Given the description of an element on the screen output the (x, y) to click on. 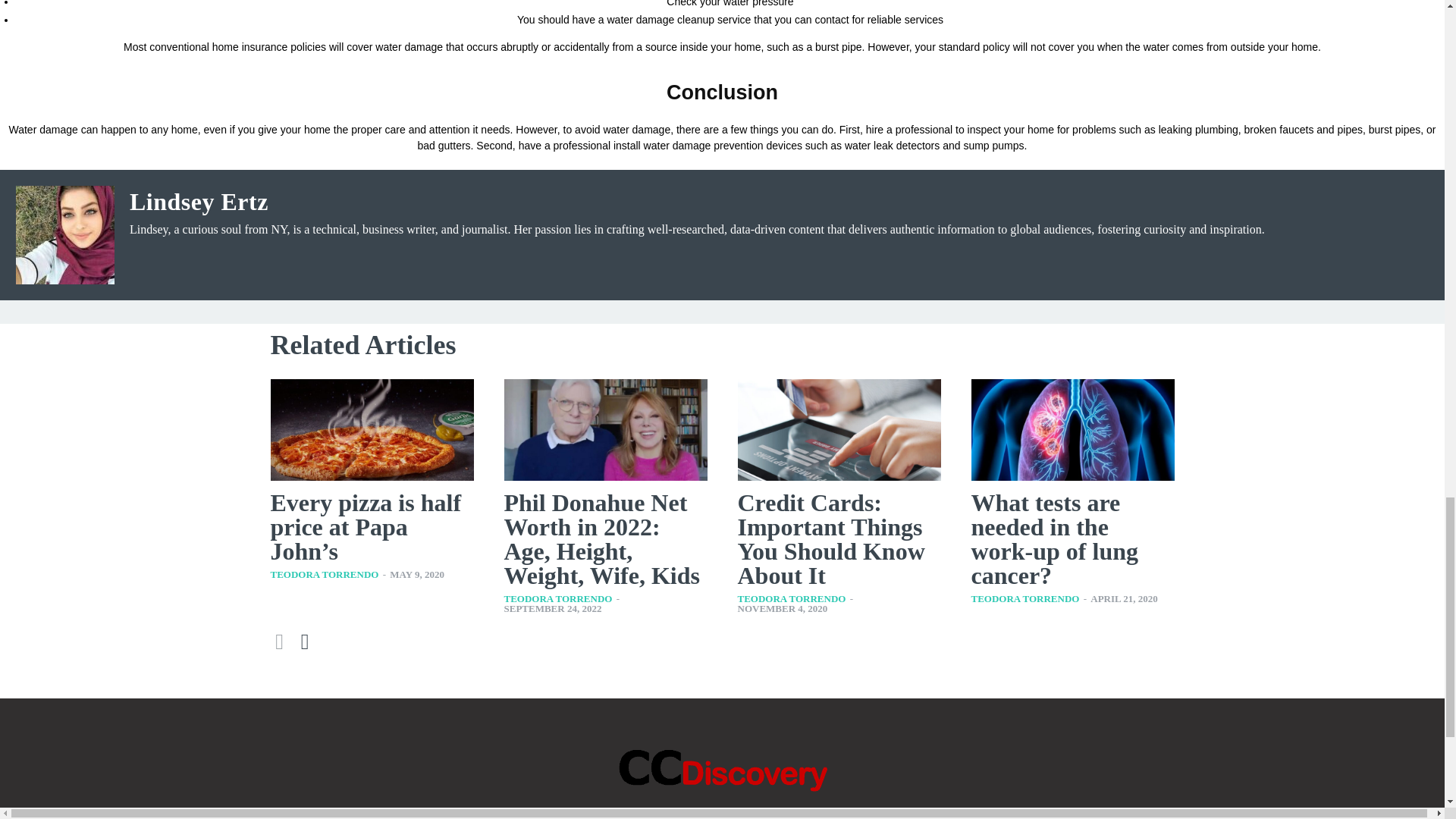
Credit Cards: Important Things You Should Know About It (830, 538)
Credit Cards: Important Things You Should Know About It (838, 429)
Lindsey Ertz (65, 234)
